Given the description of an element on the screen output the (x, y) to click on. 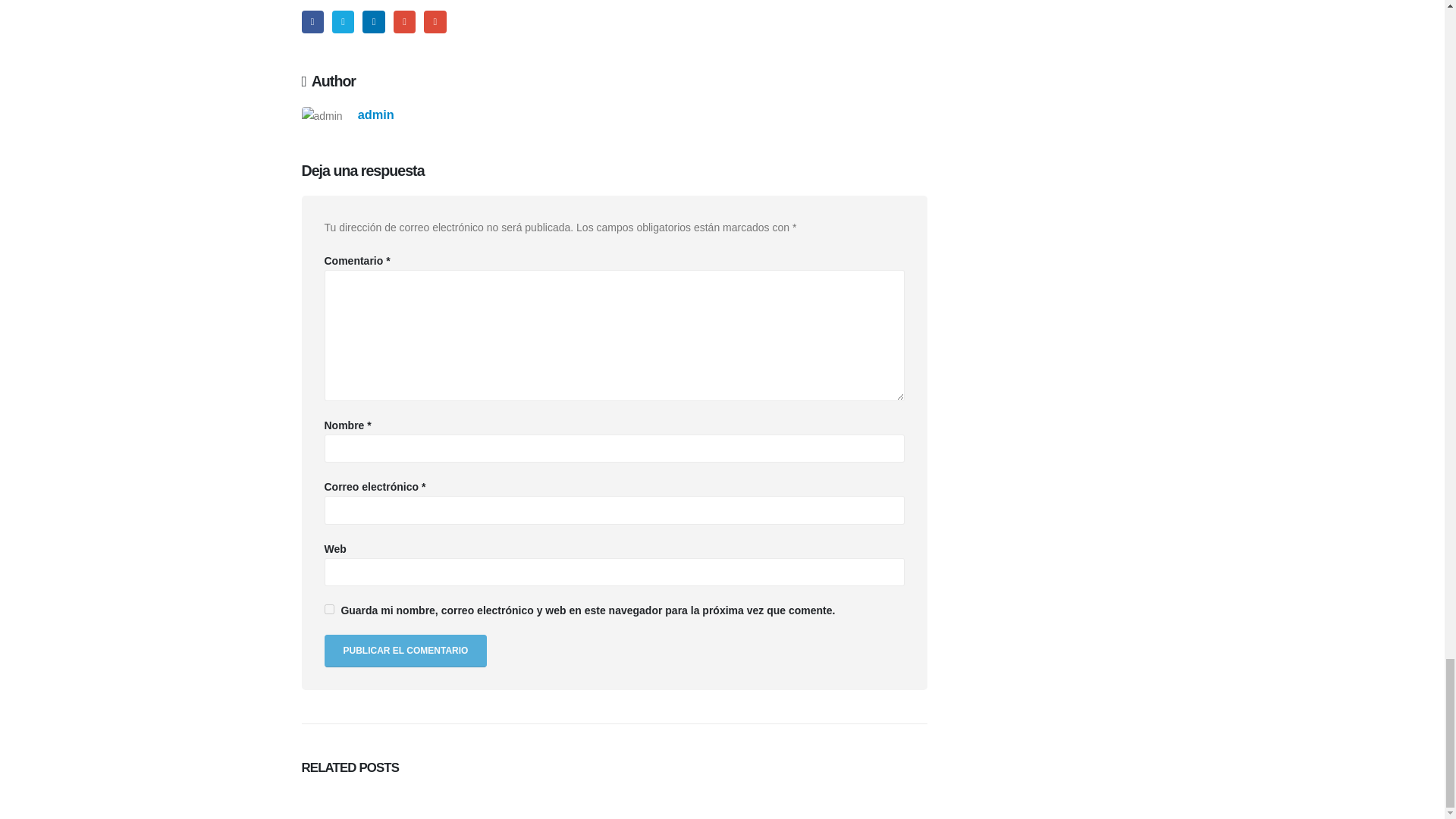
LinkedIn (373, 21)
Publicar el comentario (405, 650)
yes (329, 609)
Facebook (312, 21)
Twitter (342, 21)
Email (434, 21)
admin (376, 114)
LinkedIn (373, 21)
Facebook (312, 21)
Twitter (342, 21)
